Given the description of an element on the screen output the (x, y) to click on. 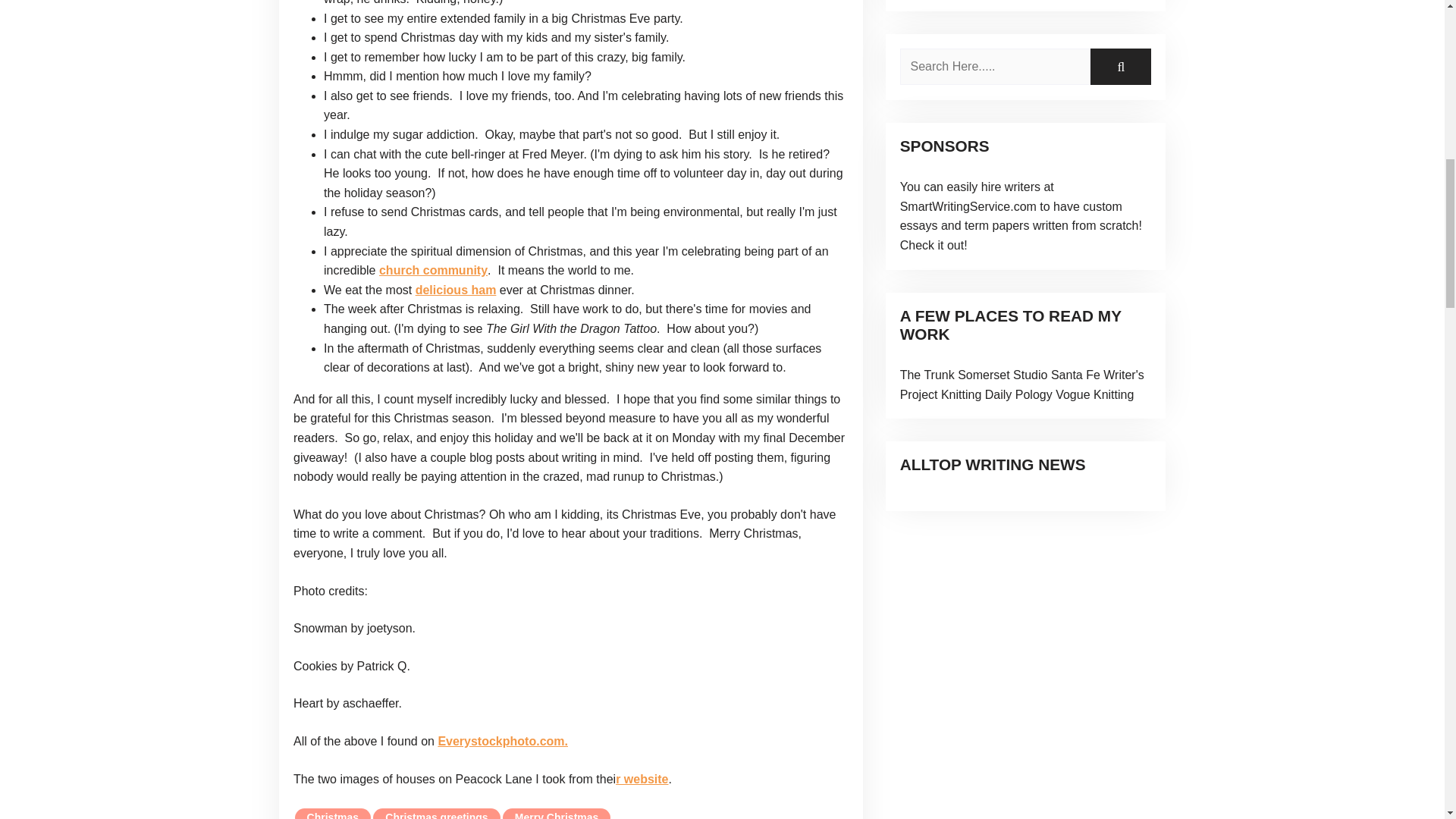
r website (641, 779)
Merry Christmas (556, 813)
church community (432, 269)
Christmas (333, 813)
Everystockphoto.com. (502, 740)
Christmas greetings (435, 813)
delicious ham (455, 289)
